Given the description of an element on the screen output the (x, y) to click on. 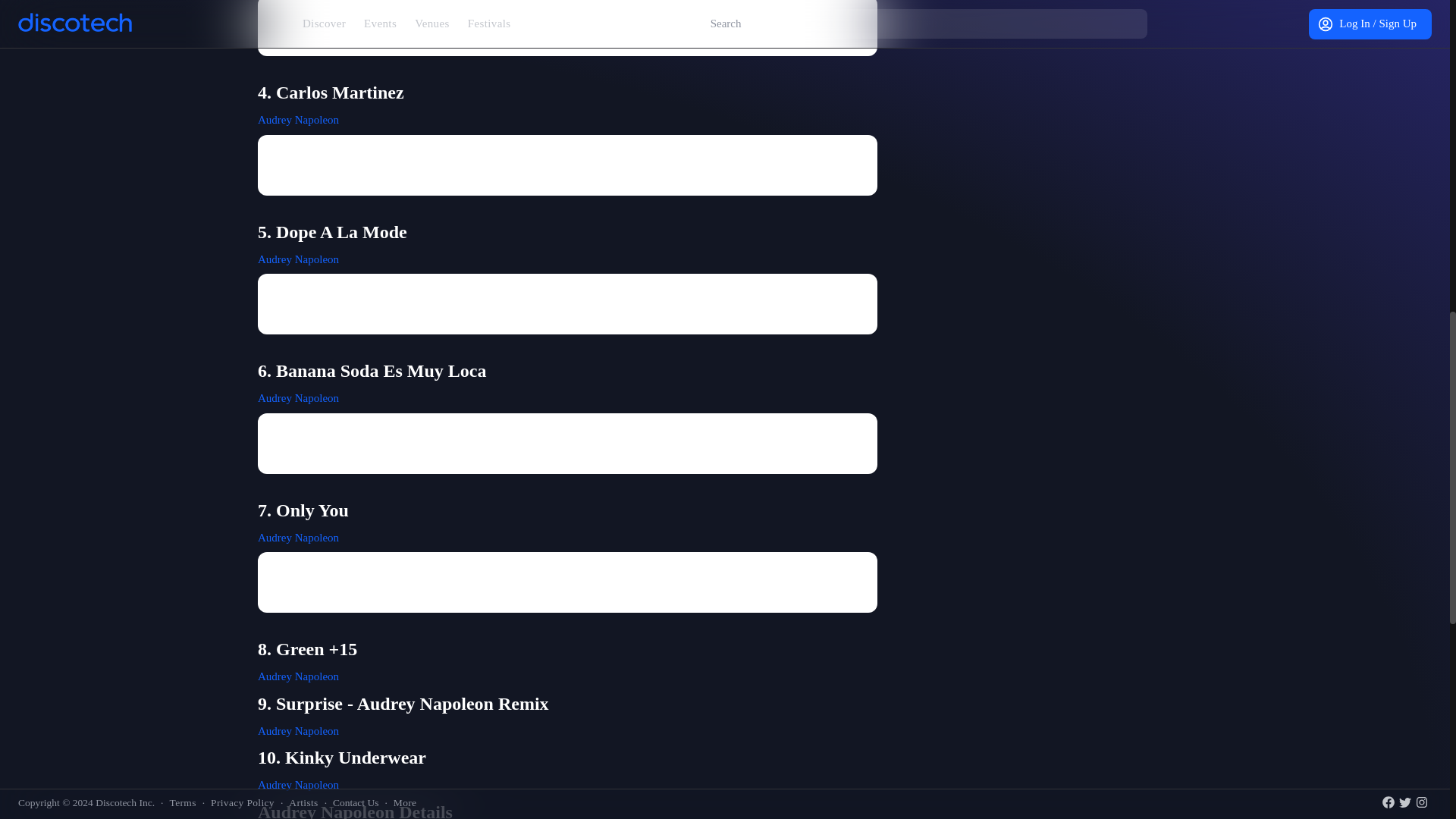
Audrey Napoleon (298, 119)
Spotify Web Player (567, 582)
Spotify Web Player (567, 303)
Audrey Napoleon (298, 398)
Spotify Web Player (567, 165)
Audrey Napoleon (298, 259)
Spotify Web Player (567, 28)
Audrey Napoleon (298, 730)
Audrey Napoleon (298, 784)
Spotify Web Player (567, 443)
Audrey Napoleon (298, 537)
Audrey Napoleon (298, 676)
